Given the description of an element on the screen output the (x, y) to click on. 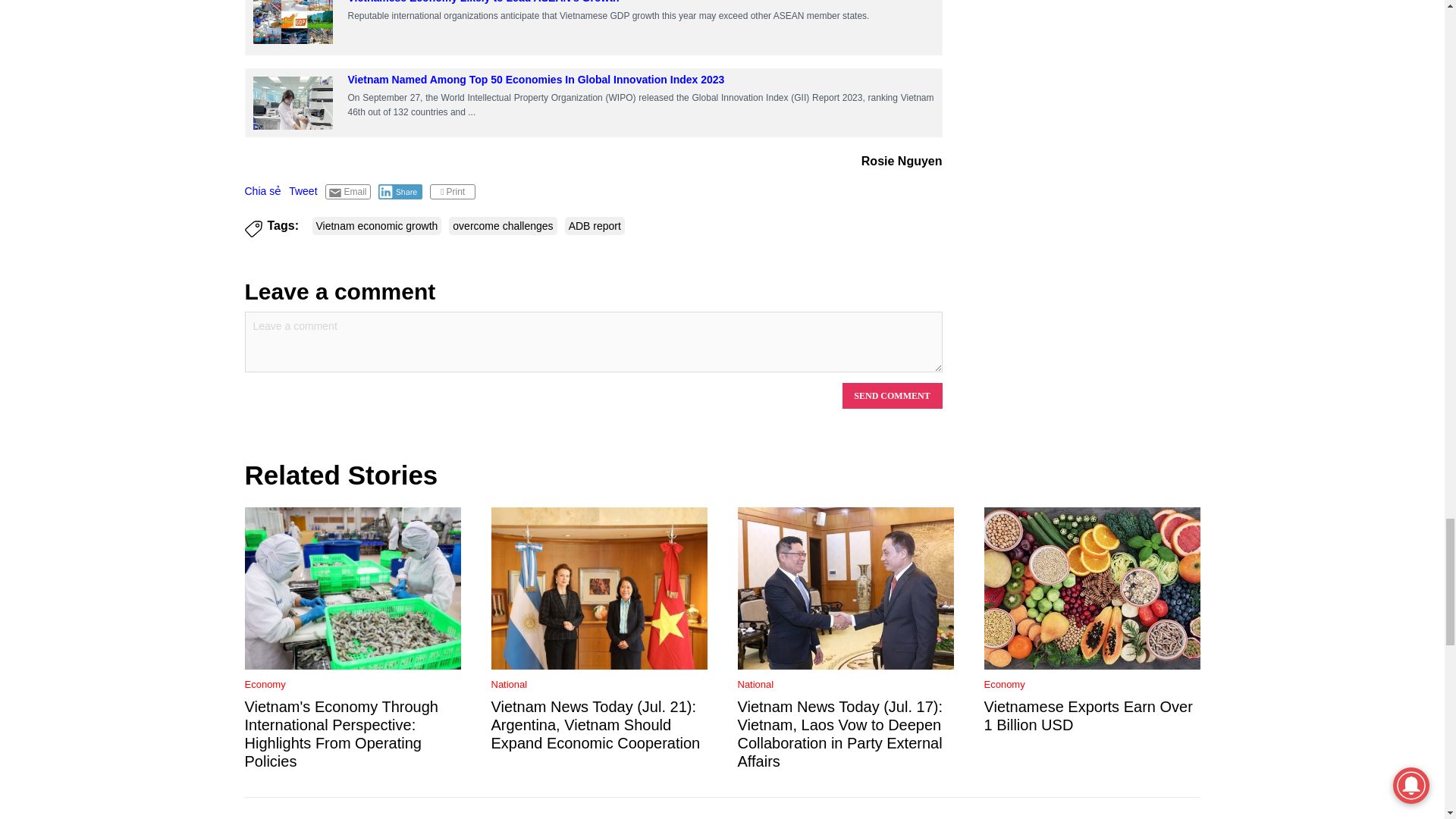
Share (400, 191)
Vietnamese Economy Likely to Lead ASEAN's Growth (482, 2)
Share by Email (347, 191)
Vietnamese Economy Likely to Lead ASEAN's Growth (293, 21)
ADB report (594, 226)
Vietnamese Economy Likely to Lead ASEAN's Growth (482, 2)
Vietnam economic growth (377, 226)
Email (347, 191)
Tweet (302, 191)
Vietnamese Economy Likely to Lead ASEAN's Growth (293, 23)
overcome challenges (502, 226)
